Given the description of an element on the screen output the (x, y) to click on. 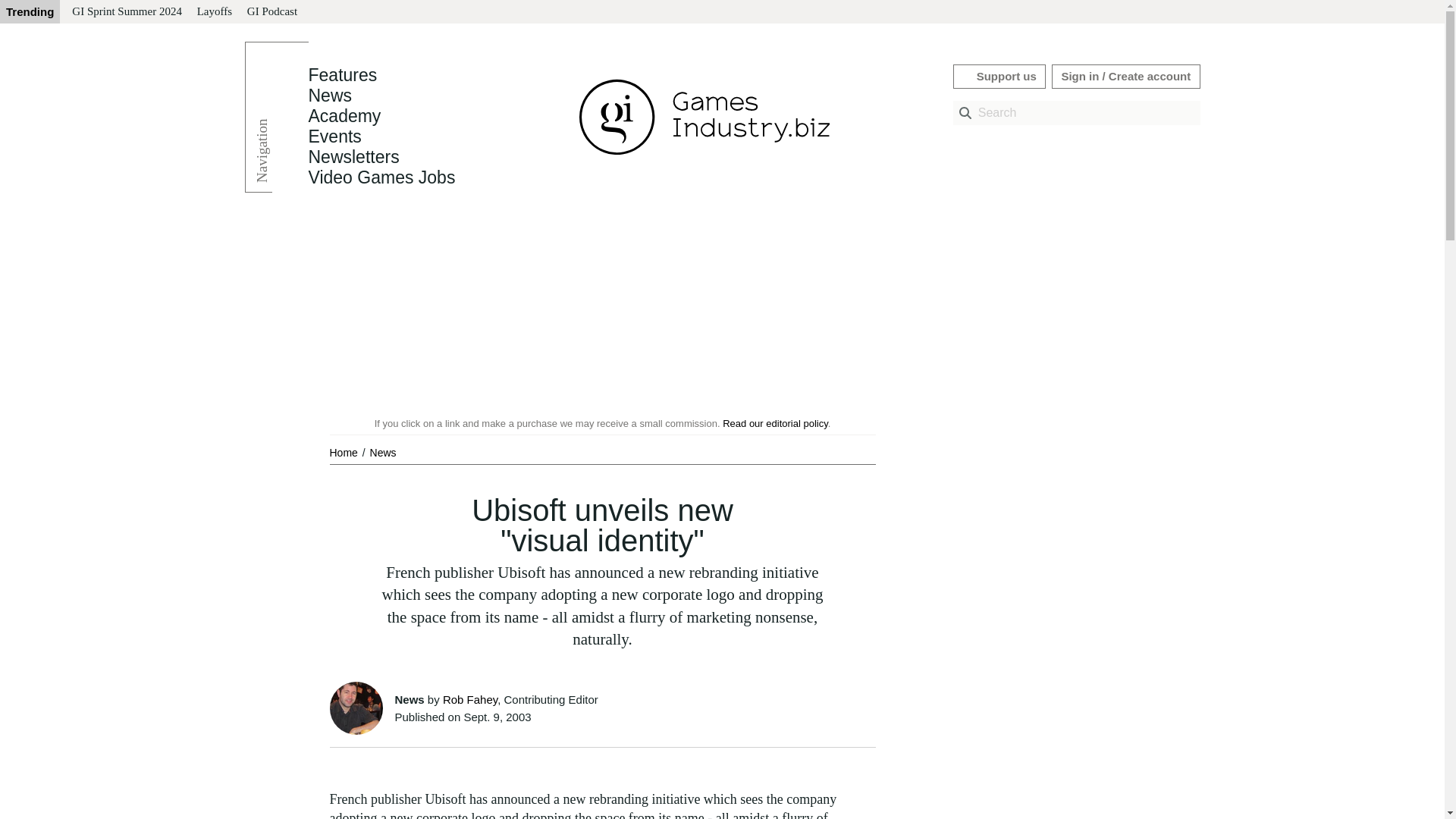
Newsletters (352, 157)
Video Games Jobs (380, 177)
Academy (343, 116)
GI Sprint Summer 2024 (126, 11)
News (382, 452)
Features (342, 75)
Support us (999, 75)
Features (342, 75)
Layoffs (214, 11)
Academy (343, 116)
News (329, 95)
Rob Fahey (469, 698)
Home (344, 452)
News (382, 452)
Events (334, 136)
